Given the description of an element on the screen output the (x, y) to click on. 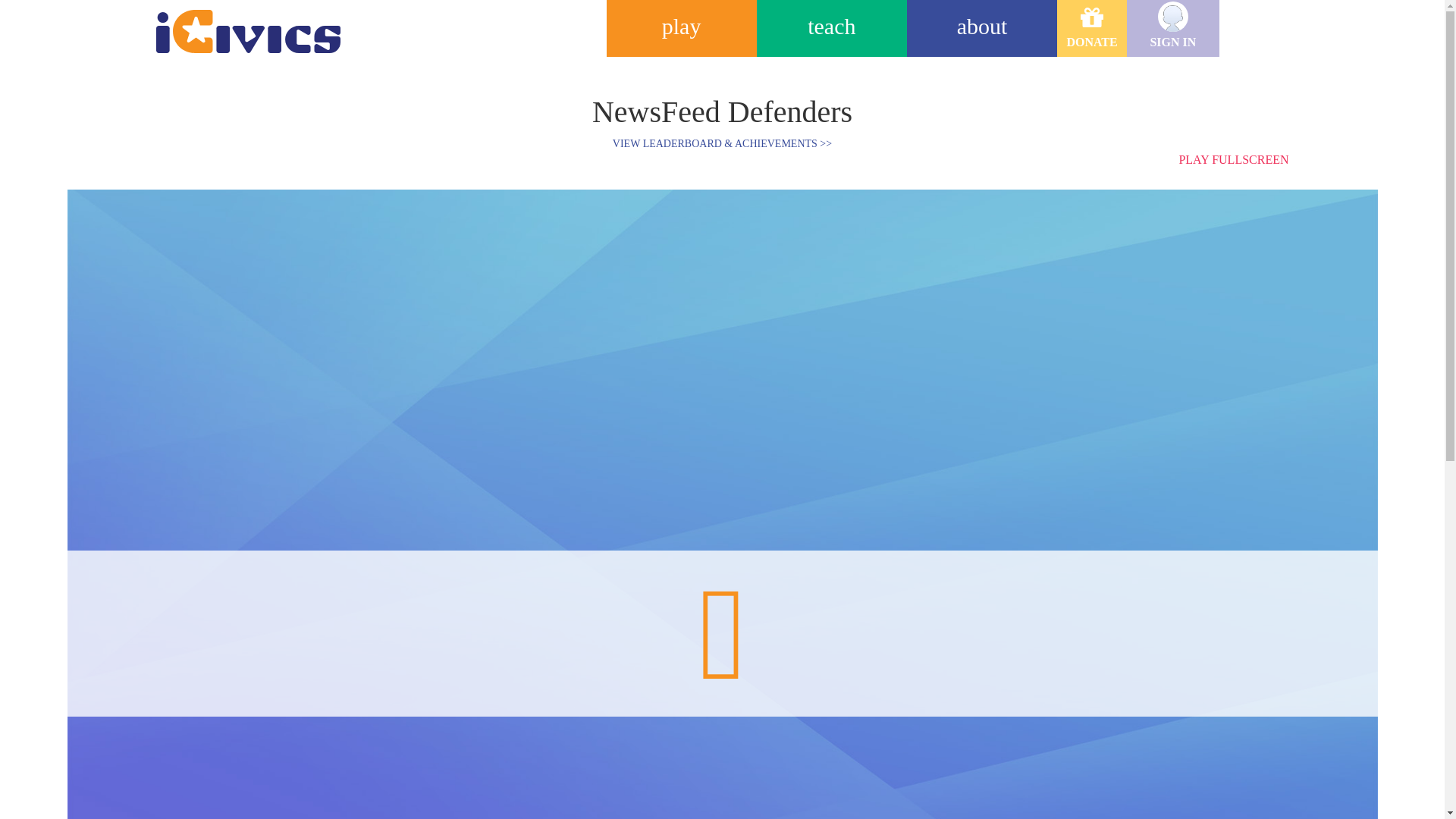
Home (236, 24)
Play Games (682, 28)
